Given the description of an element on the screen output the (x, y) to click on. 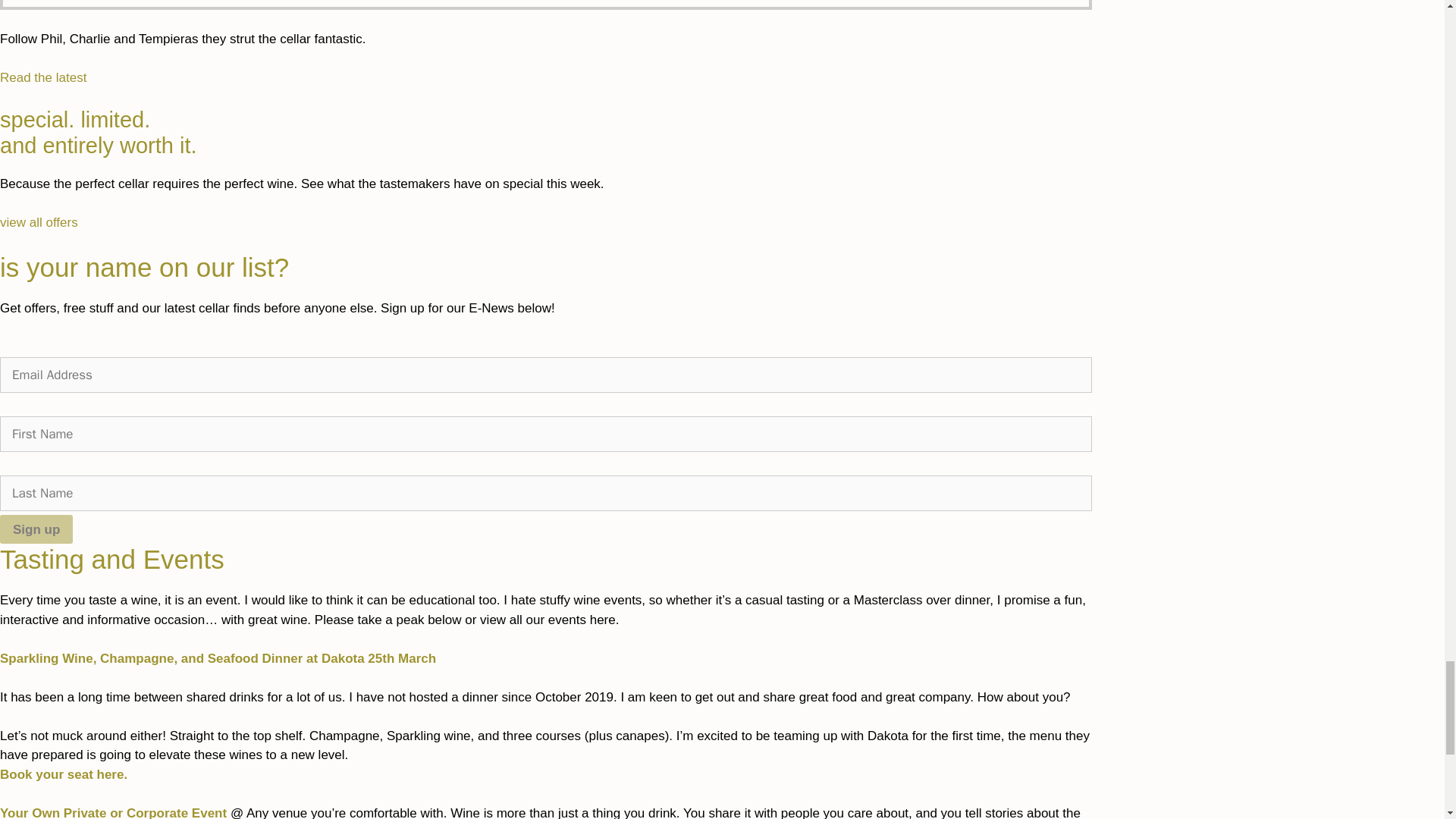
Current Offers (39, 222)
Blog (42, 77)
Sign up (36, 529)
